Given the description of an element on the screen output the (x, y) to click on. 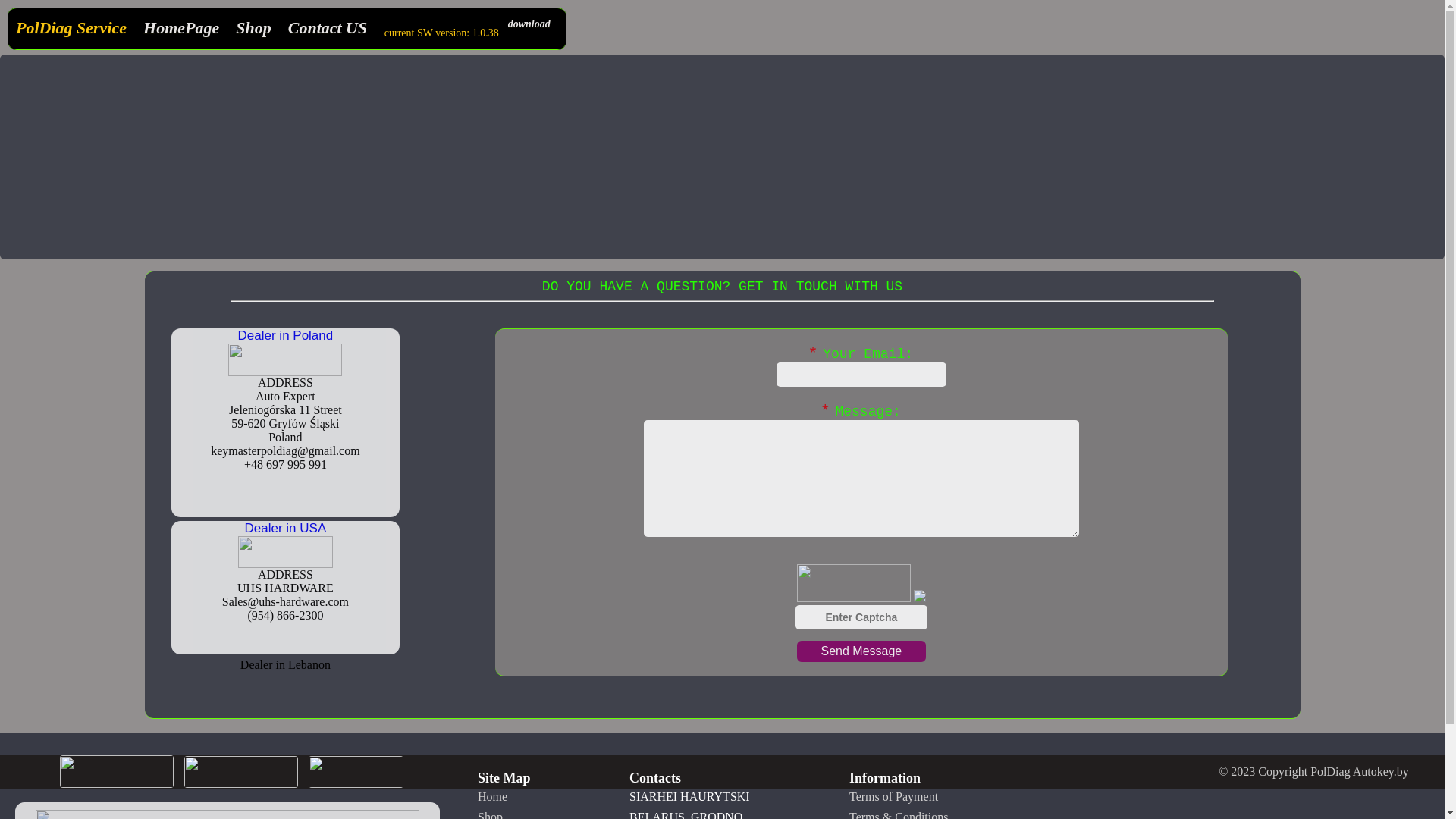
Terms of Payment Element type: text (893, 796)
Home Element type: text (492, 796)
Shop Element type: text (253, 27)
Contact US Element type: text (327, 27)
download Element type: text (529, 24)
HomePage Element type: text (180, 27)
Send Message Element type: text (861, 651)
